Given the description of an element on the screen output the (x, y) to click on. 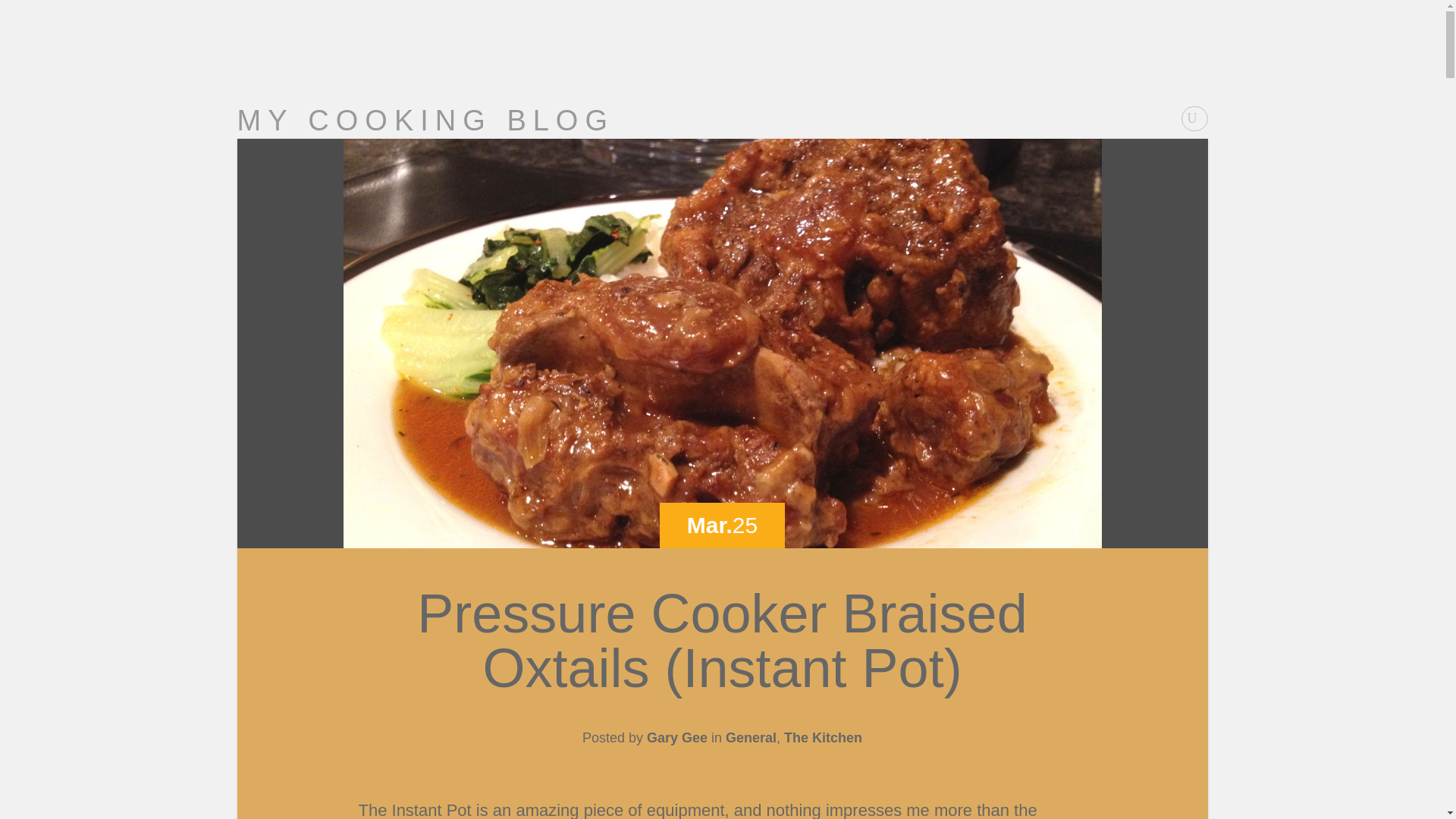
Posts by Gary Gee (676, 737)
Gary Gee (676, 737)
General (750, 737)
MY COOKING BLOG (423, 120)
The Kitchen (822, 737)
Search (21, 7)
